Given the description of an element on the screen output the (x, y) to click on. 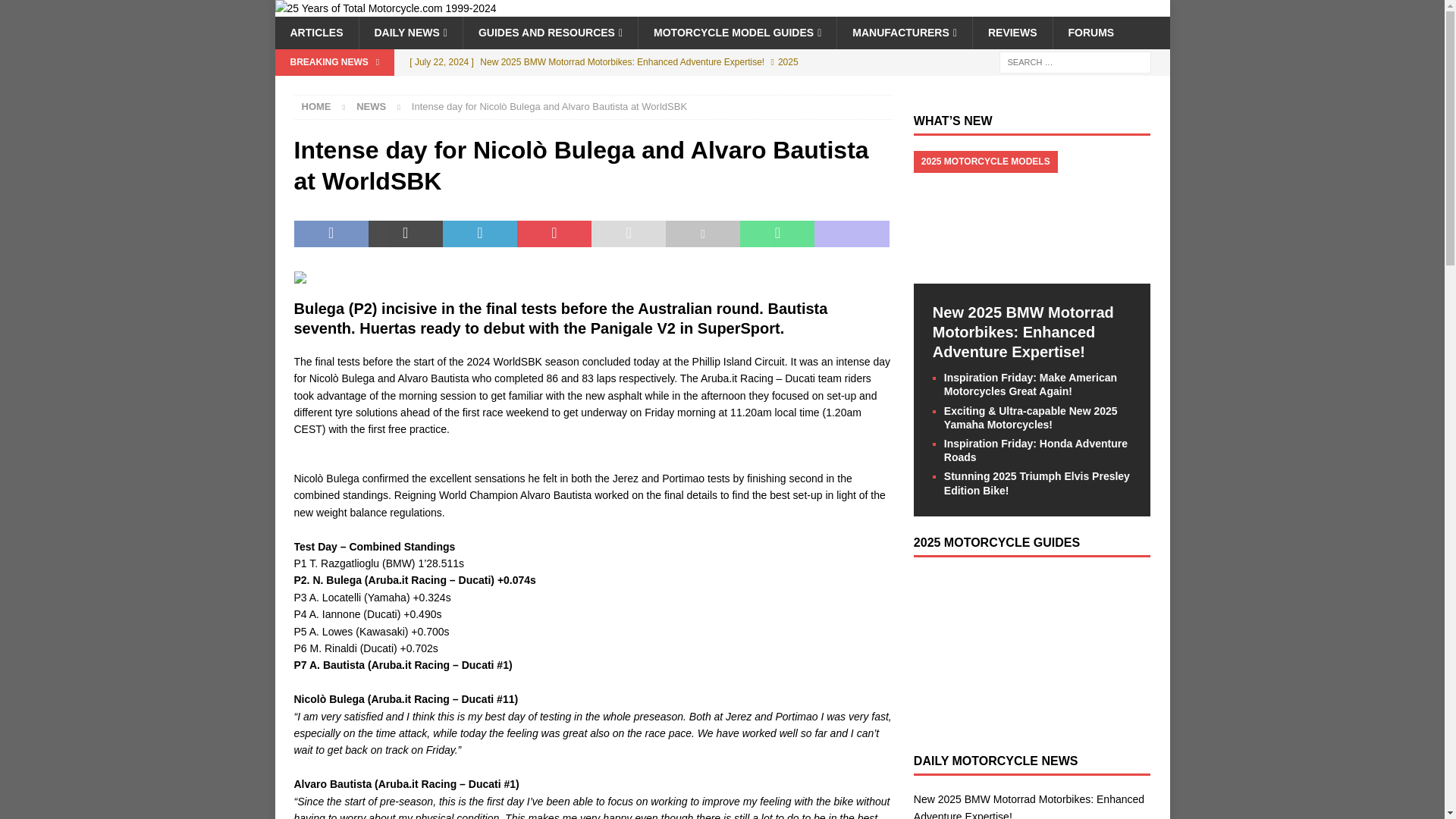
Home (316, 106)
News (370, 106)
ARTICLES (316, 32)
DAILY NEWS (409, 32)
GUIDES AND RESOURCES (550, 32)
MOTORCYCLE MODEL GUIDES (736, 32)
